Given the description of an element on the screen output the (x, y) to click on. 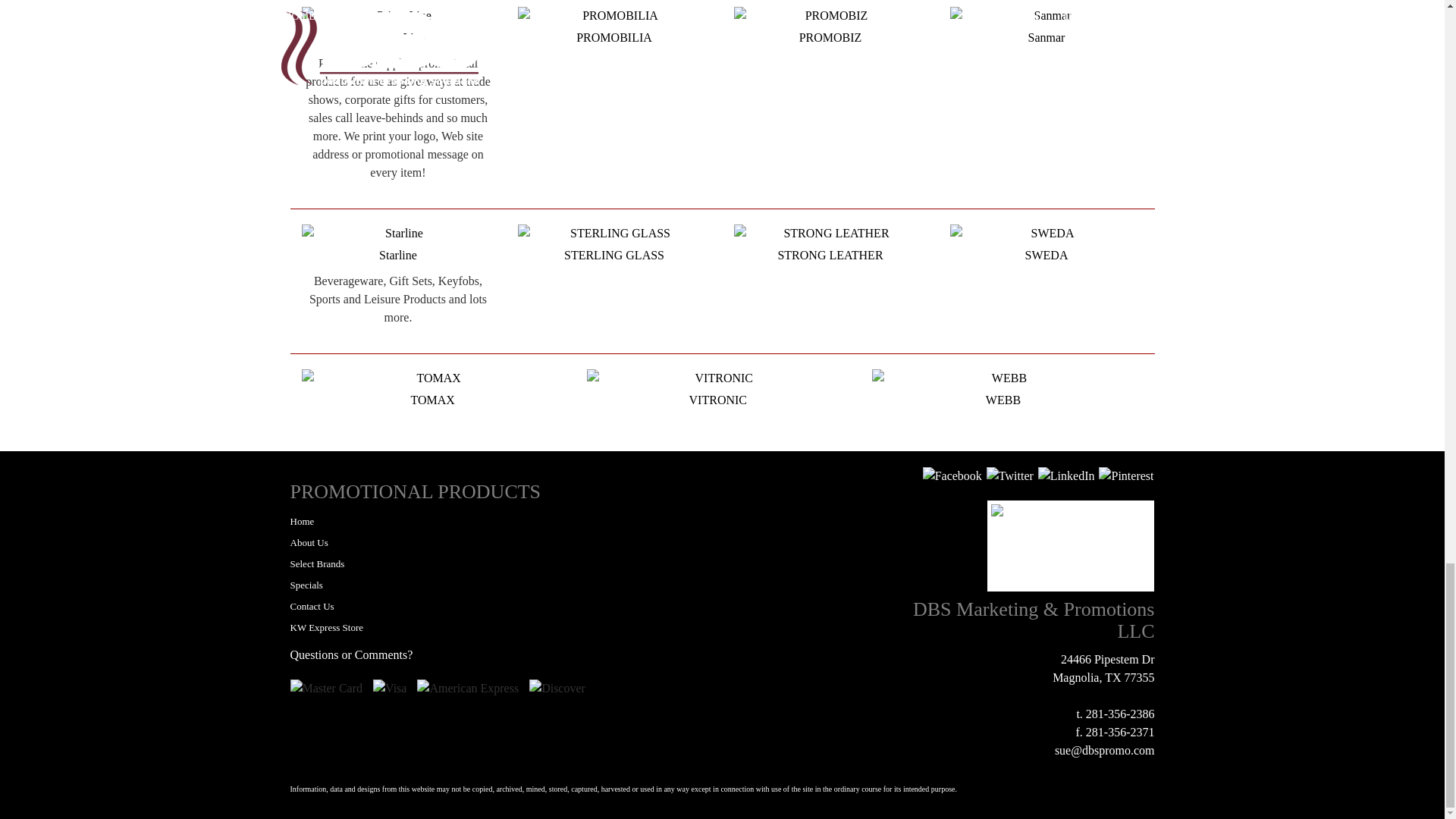
Visit us on LinkedIn (1066, 474)
Visit us on Pinterest (1126, 474)
Visit us on Facebook (952, 474)
Click for a larger map (1070, 545)
Visit us on Twitter (1010, 474)
